Given the description of an element on the screen output the (x, y) to click on. 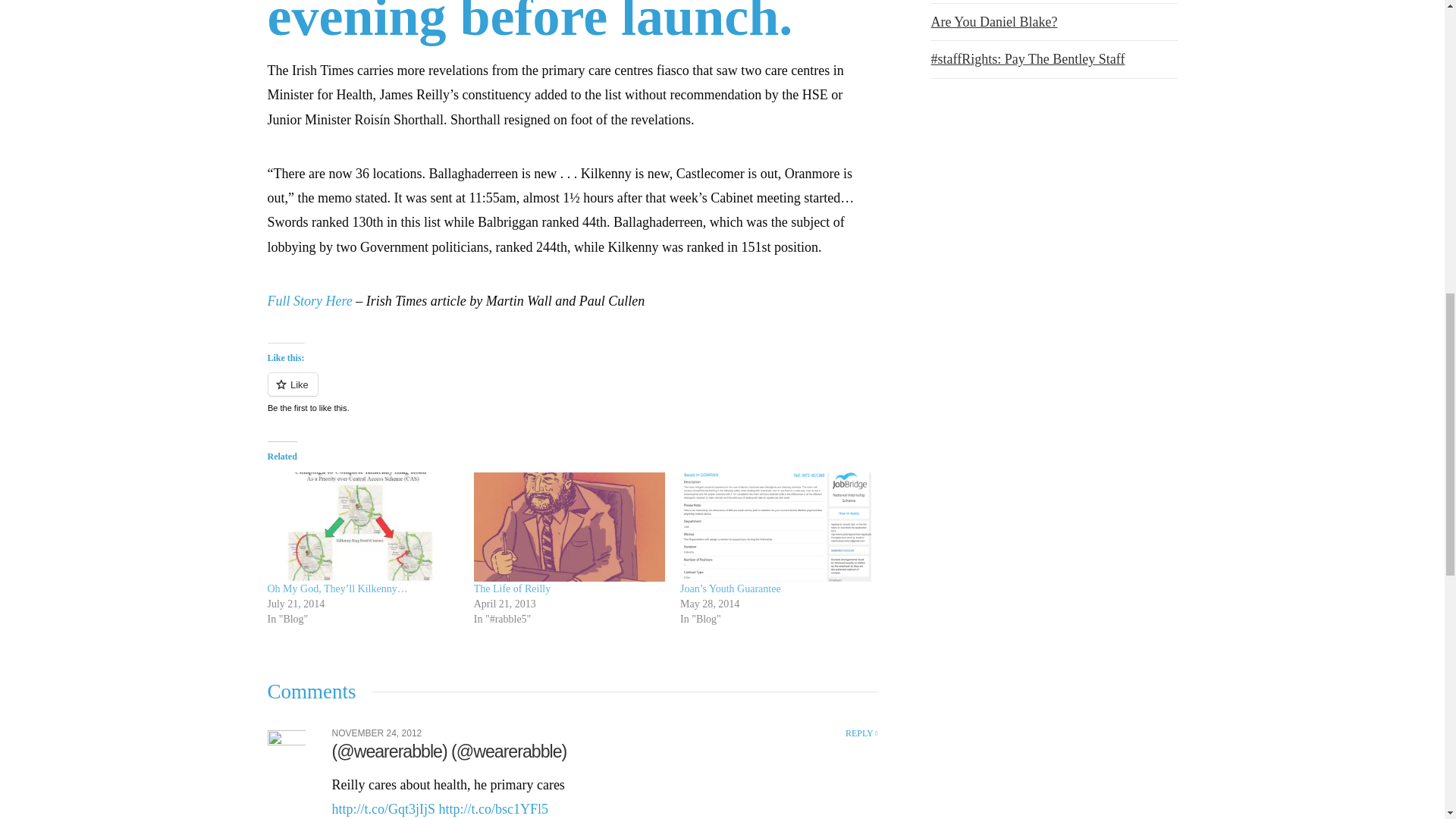
Like or Reblog (571, 393)
The Life of Reilly (569, 526)
The Life of Reilly (512, 588)
